Given the description of an element on the screen output the (x, y) to click on. 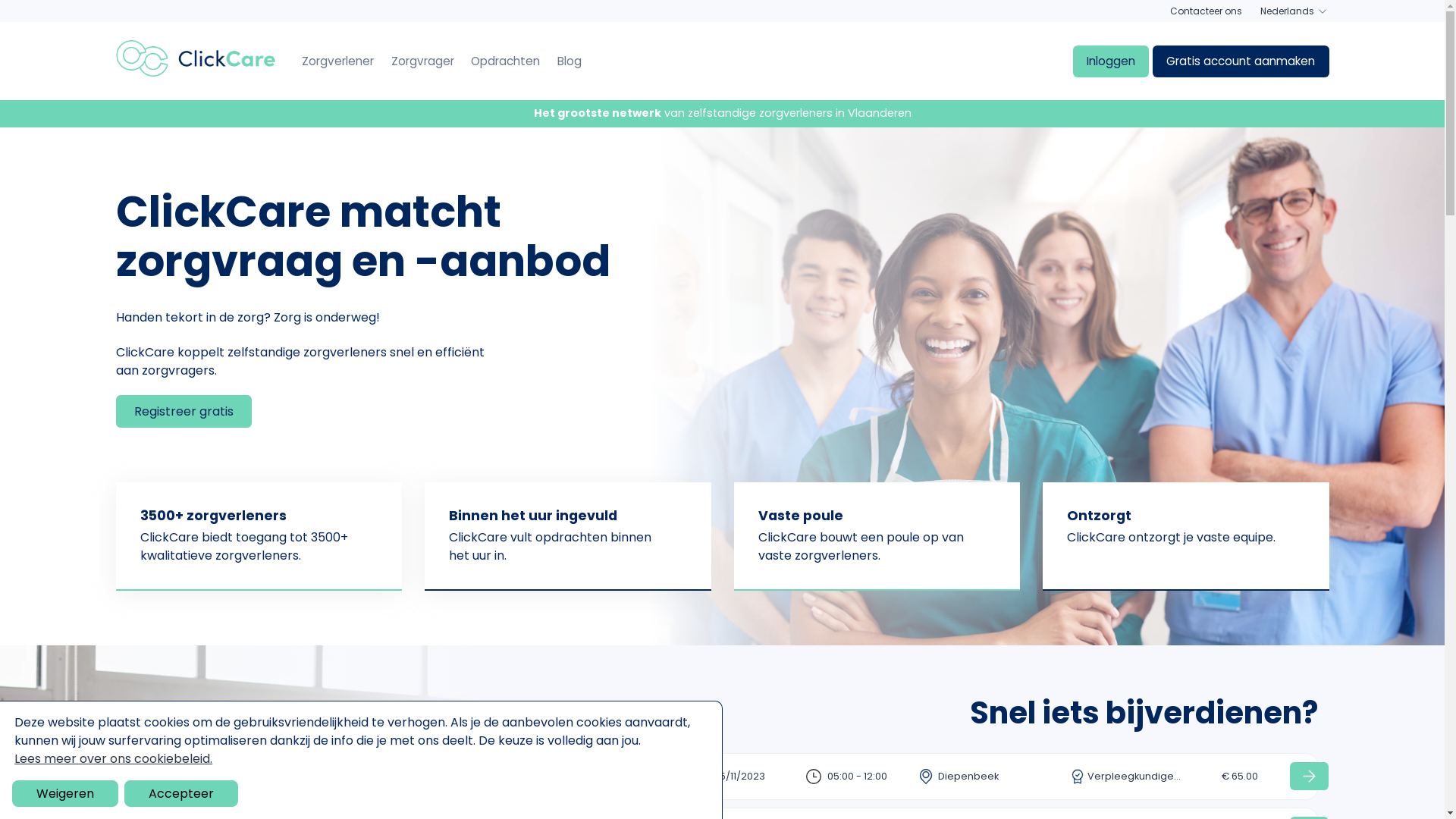
Opdrachten Element type: text (504, 61)
Zorgvrager Element type: text (422, 61)
Blog Element type: text (569, 61)
Gratis account aanmaken Element type: text (1240, 61)
Zorgverlener Element type: text (337, 61)
Inloggen Element type: text (1110, 61)
Lees meer over ons cookiebeleid. Element type: text (113, 758)
Contacteer ons Element type: text (1205, 10)
Registreer gratis Element type: text (183, 411)
